Given the description of an element on the screen output the (x, y) to click on. 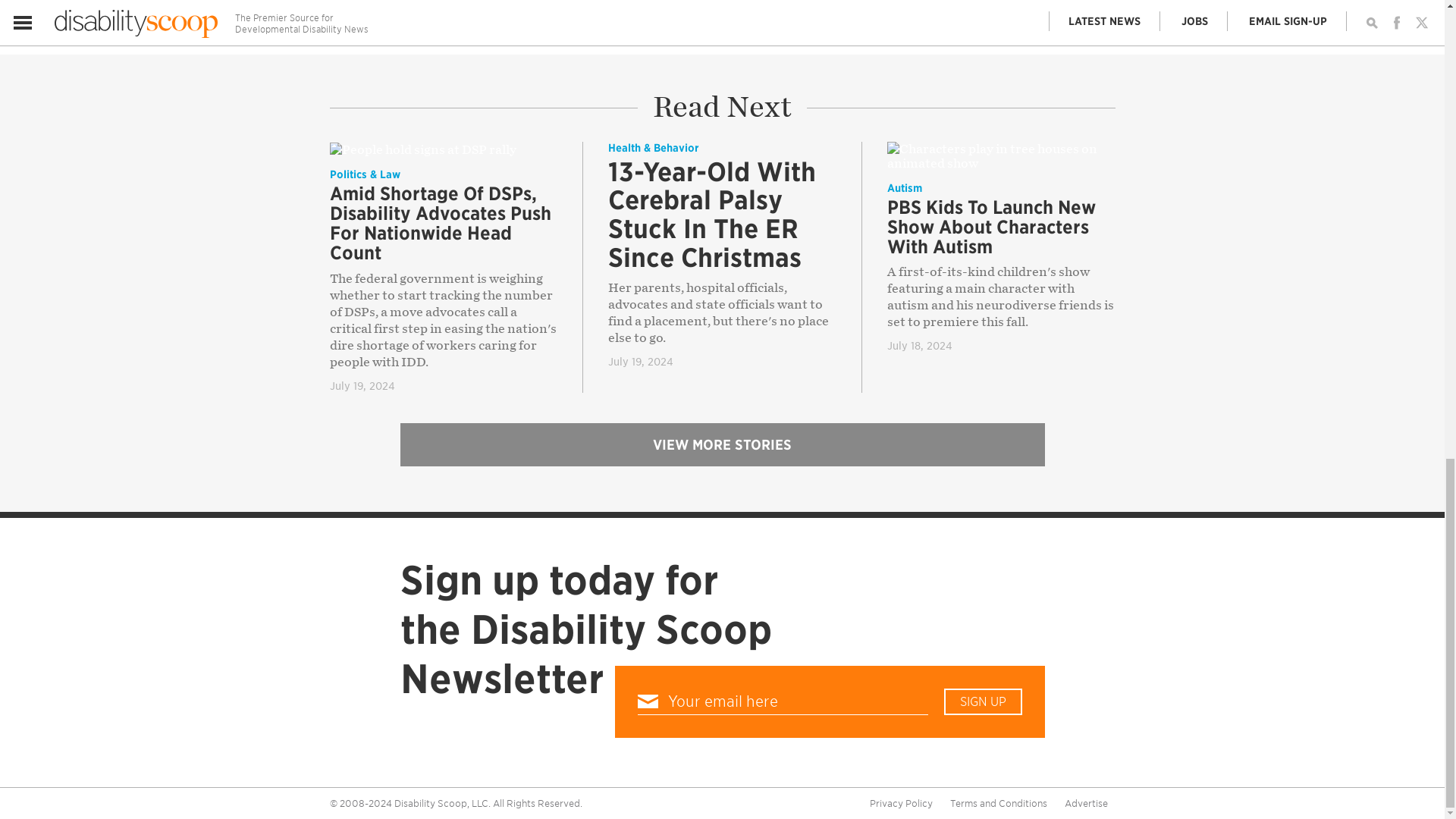
Sign Up (982, 701)
